Given the description of an element on the screen output the (x, y) to click on. 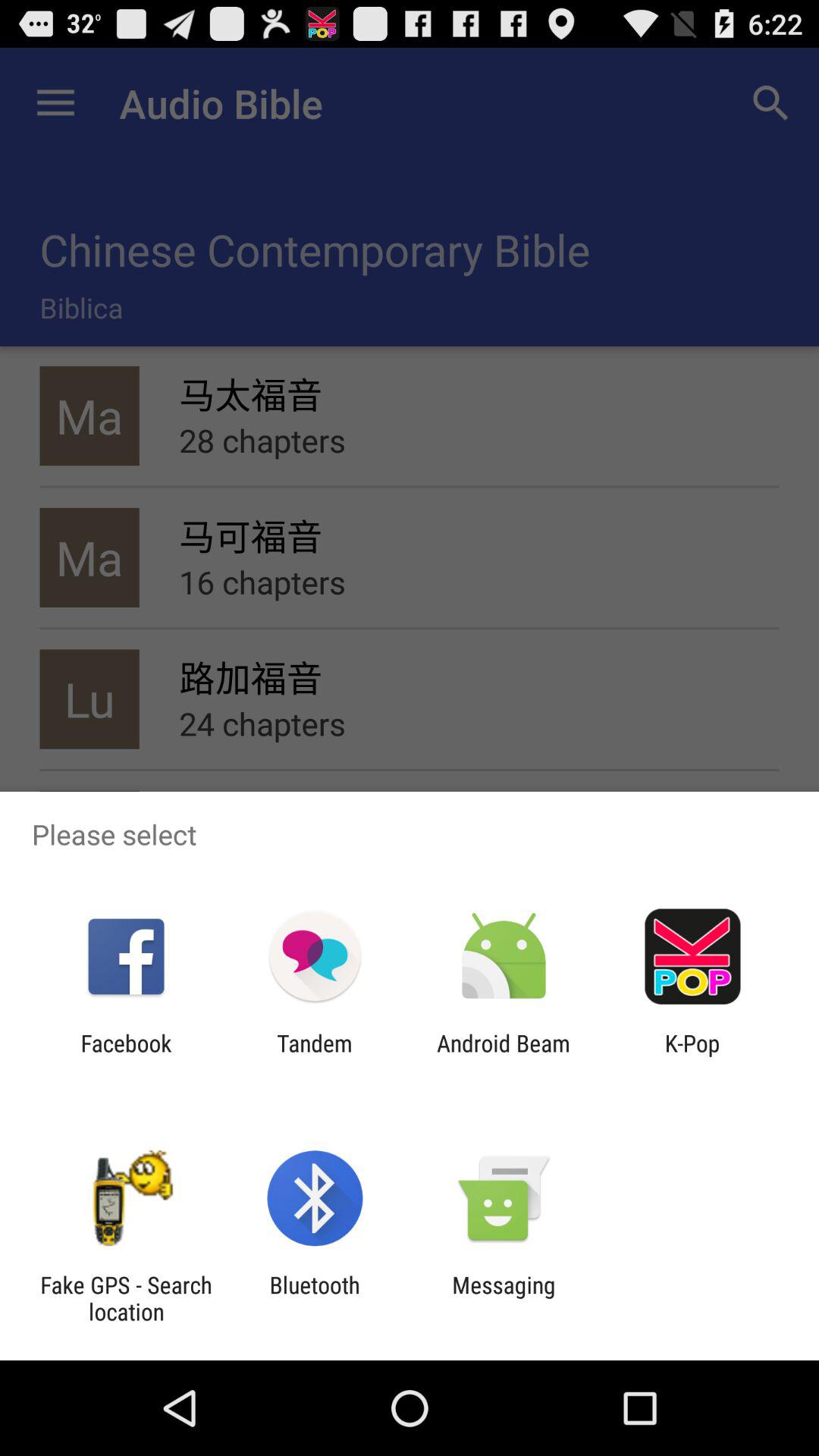
turn off app next to the tandem item (503, 1056)
